Given the description of an element on the screen output the (x, y) to click on. 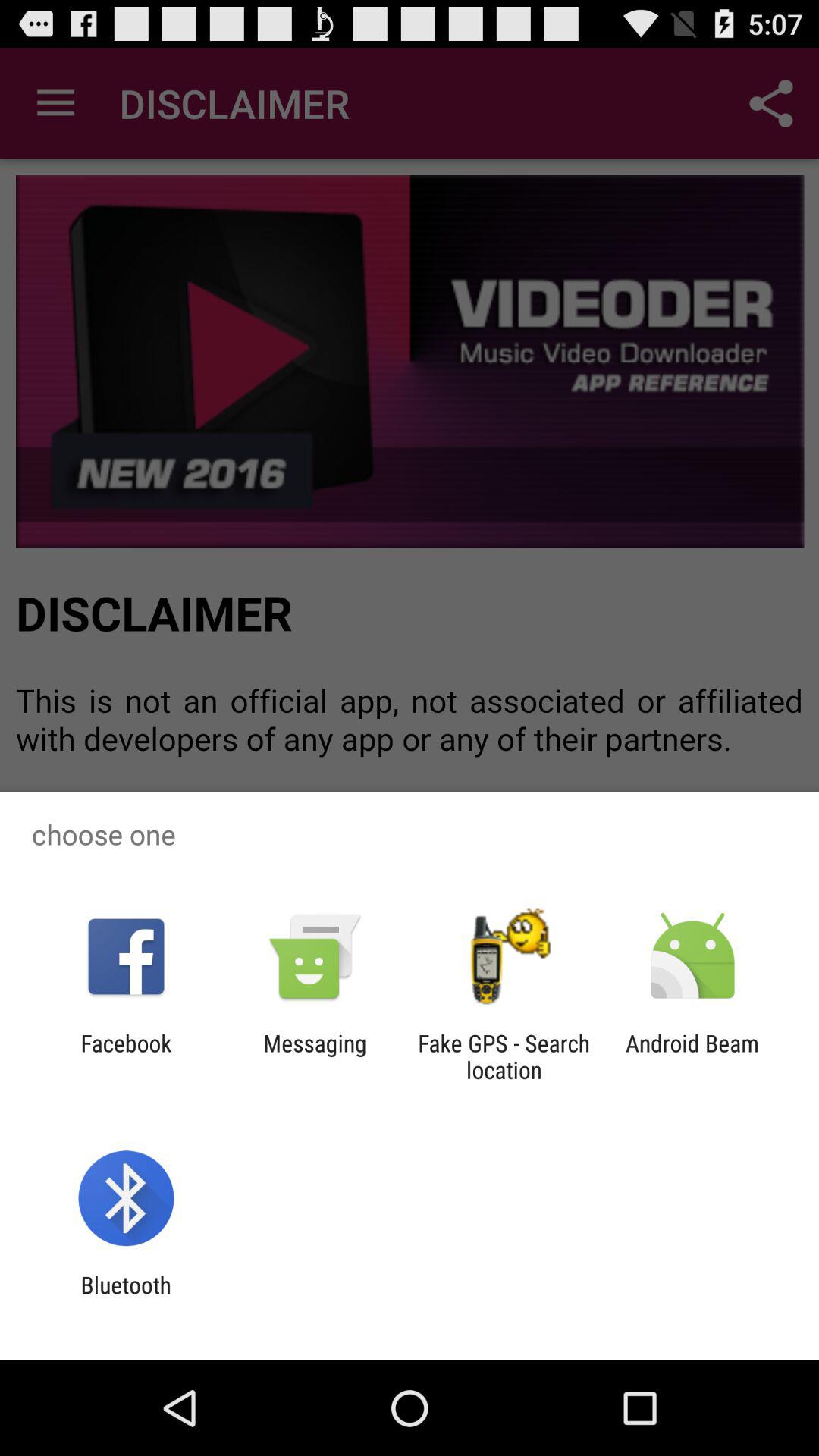
launch the messaging (314, 1056)
